Given the description of an element on the screen output the (x, y) to click on. 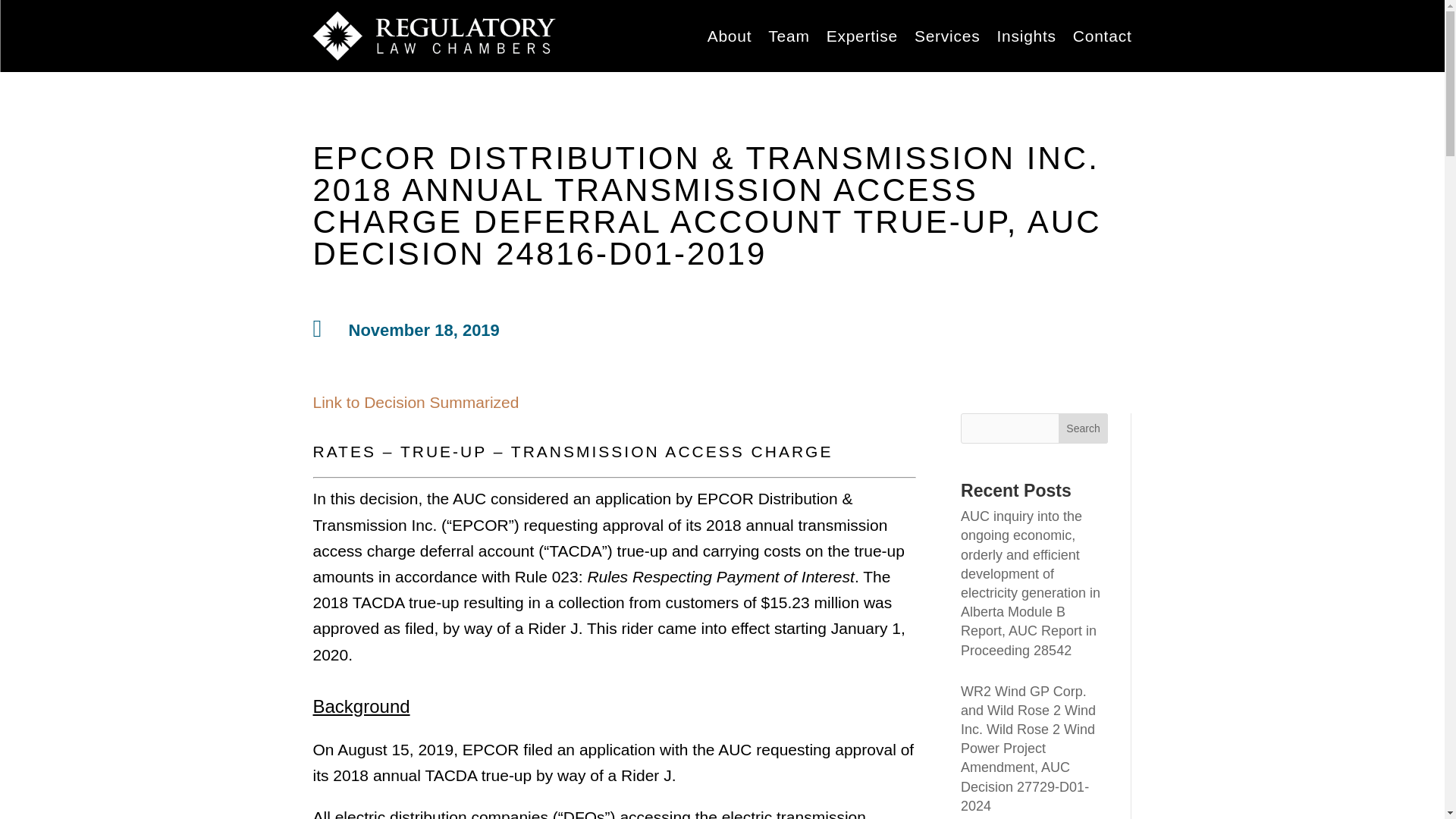
Expertise (862, 38)
Search (1083, 428)
Team (788, 38)
Link to Decision Summarized (415, 402)
Contact (1102, 38)
Services (946, 38)
Insights (1025, 38)
About (729, 38)
